Given the description of an element on the screen output the (x, y) to click on. 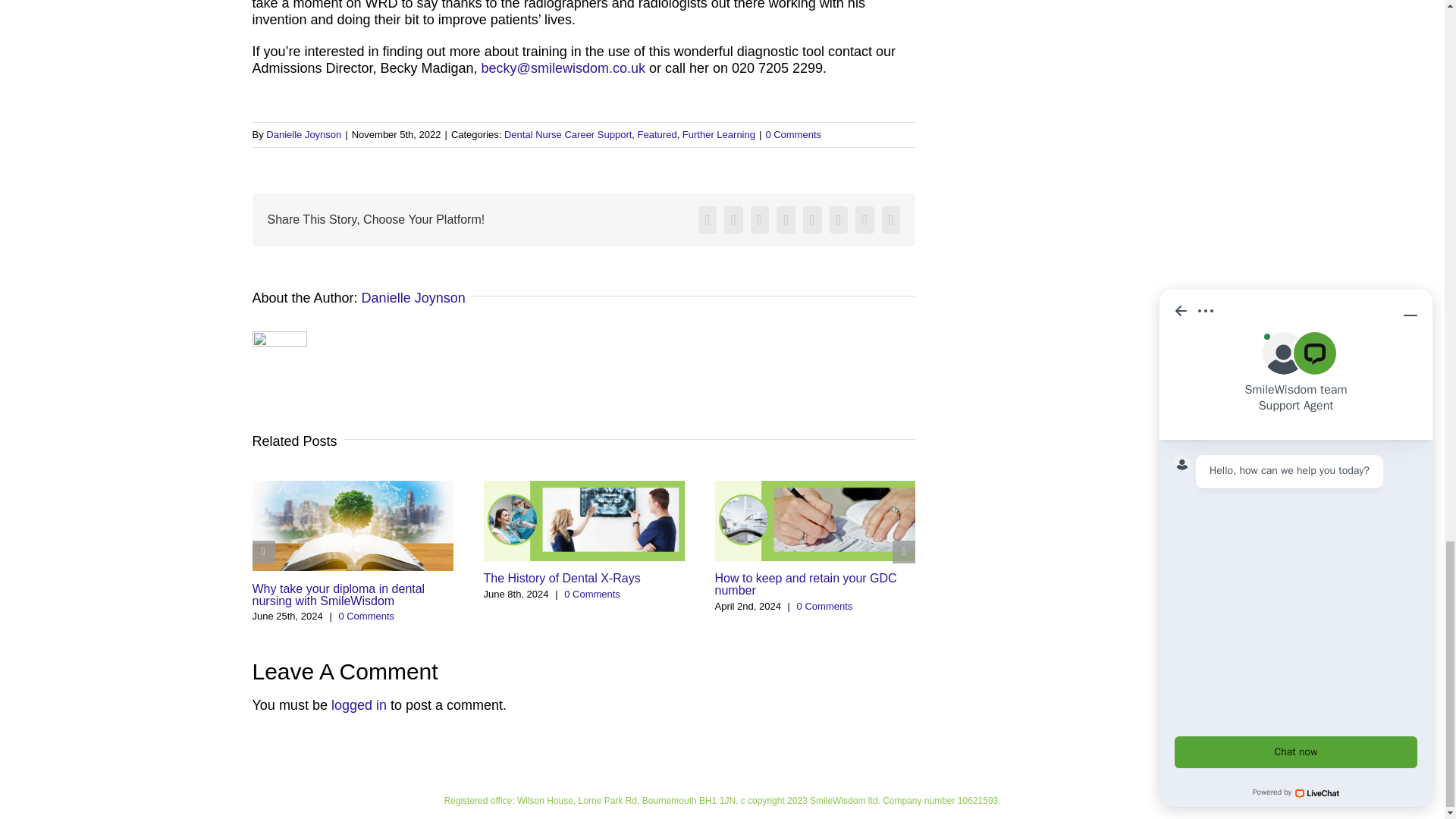
Why take your diploma in dental nursing with SmileWisdom (338, 594)
Posts by Danielle Joynson (413, 296)
Posts by Danielle Joynson (303, 134)
